Given the description of an element on the screen output the (x, y) to click on. 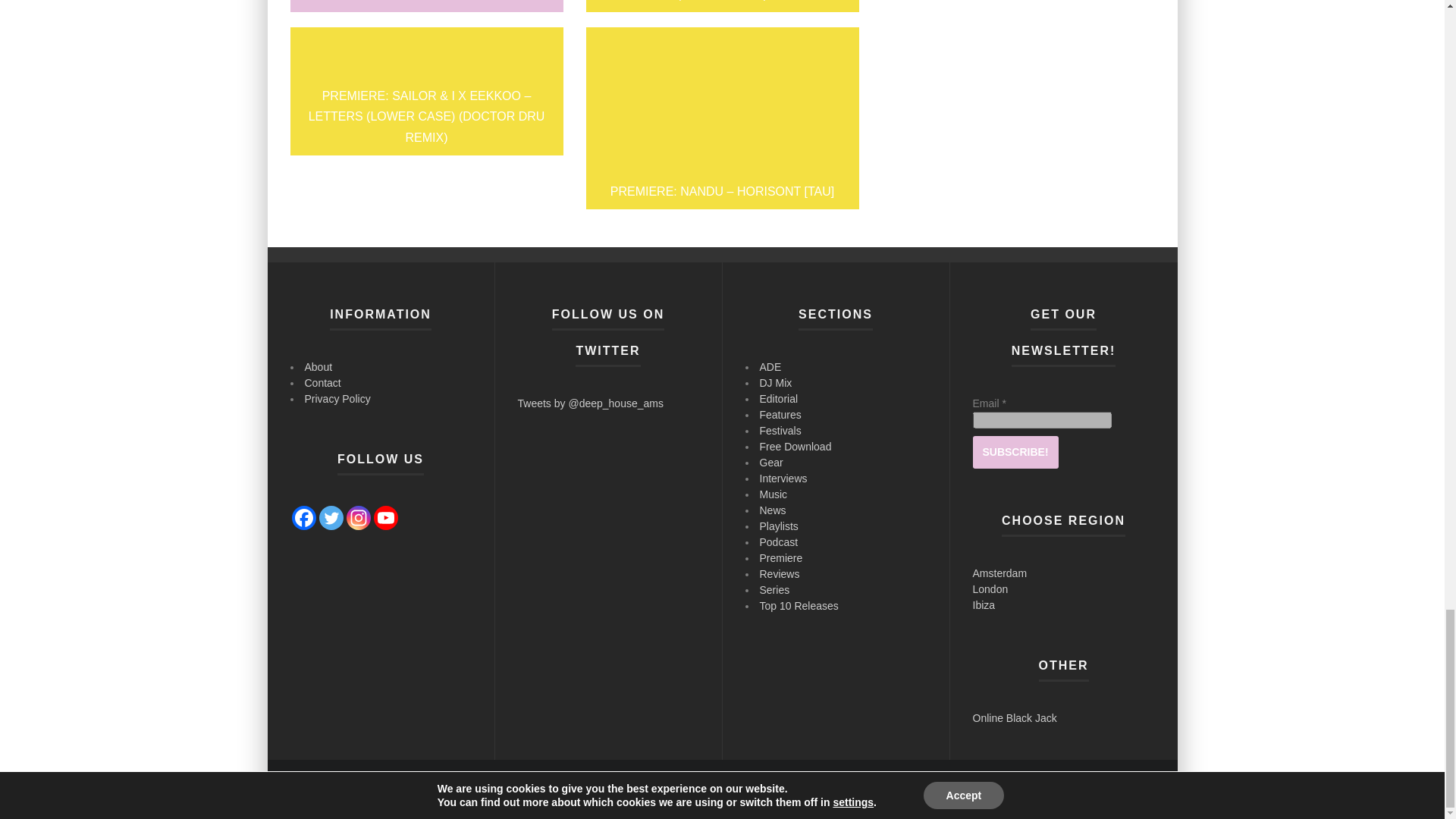
News (958, 788)
Twitter (330, 517)
Youtube (384, 517)
Instagram (357, 517)
Facebook (303, 517)
